Given the description of an element on the screen output the (x, y) to click on. 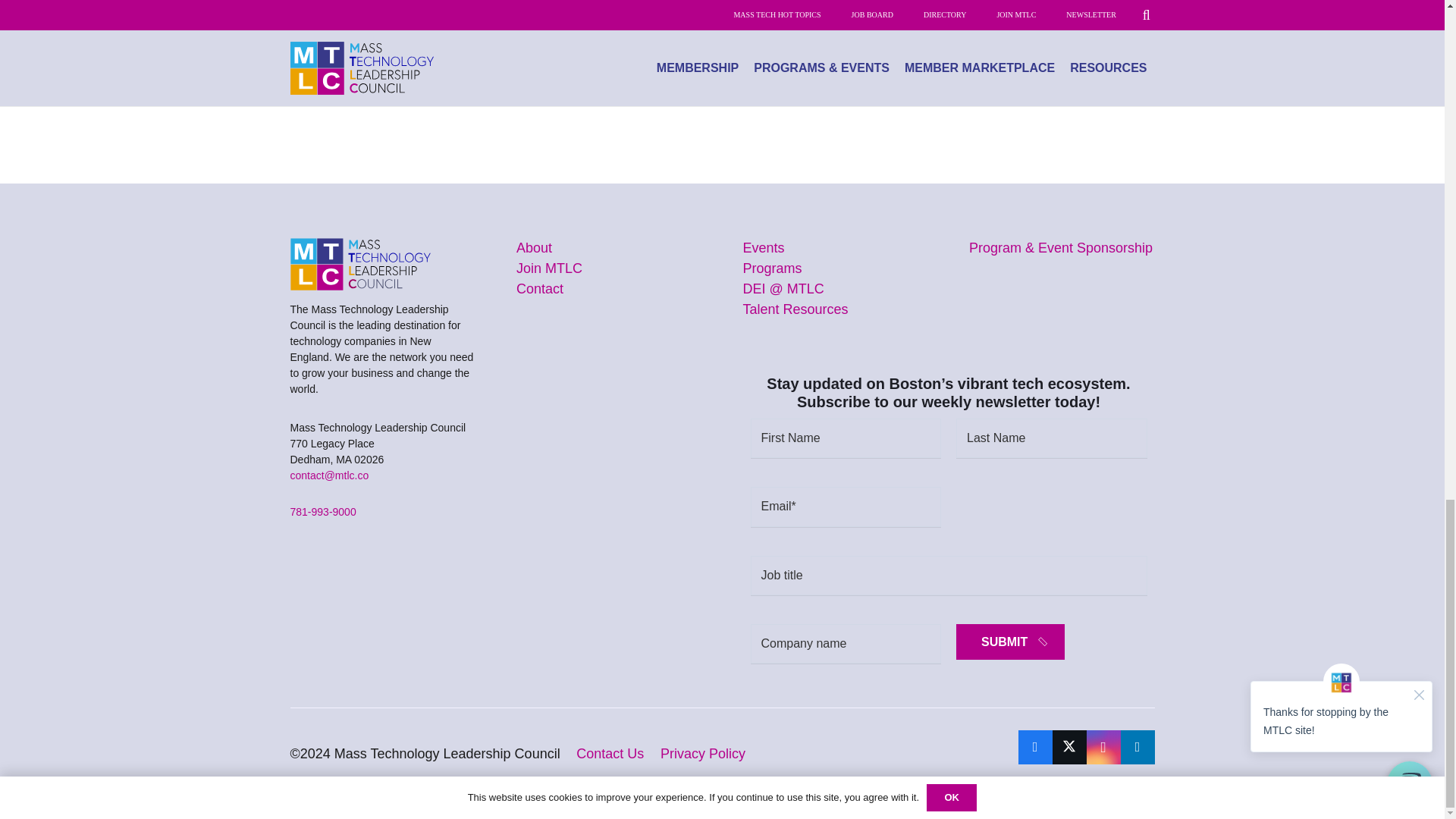
Twitter (1069, 747)
SUBMIT (1010, 642)
Instagram (1102, 747)
Facebook (1034, 747)
LinkedIn (1137, 747)
